Given the description of an element on the screen output the (x, y) to click on. 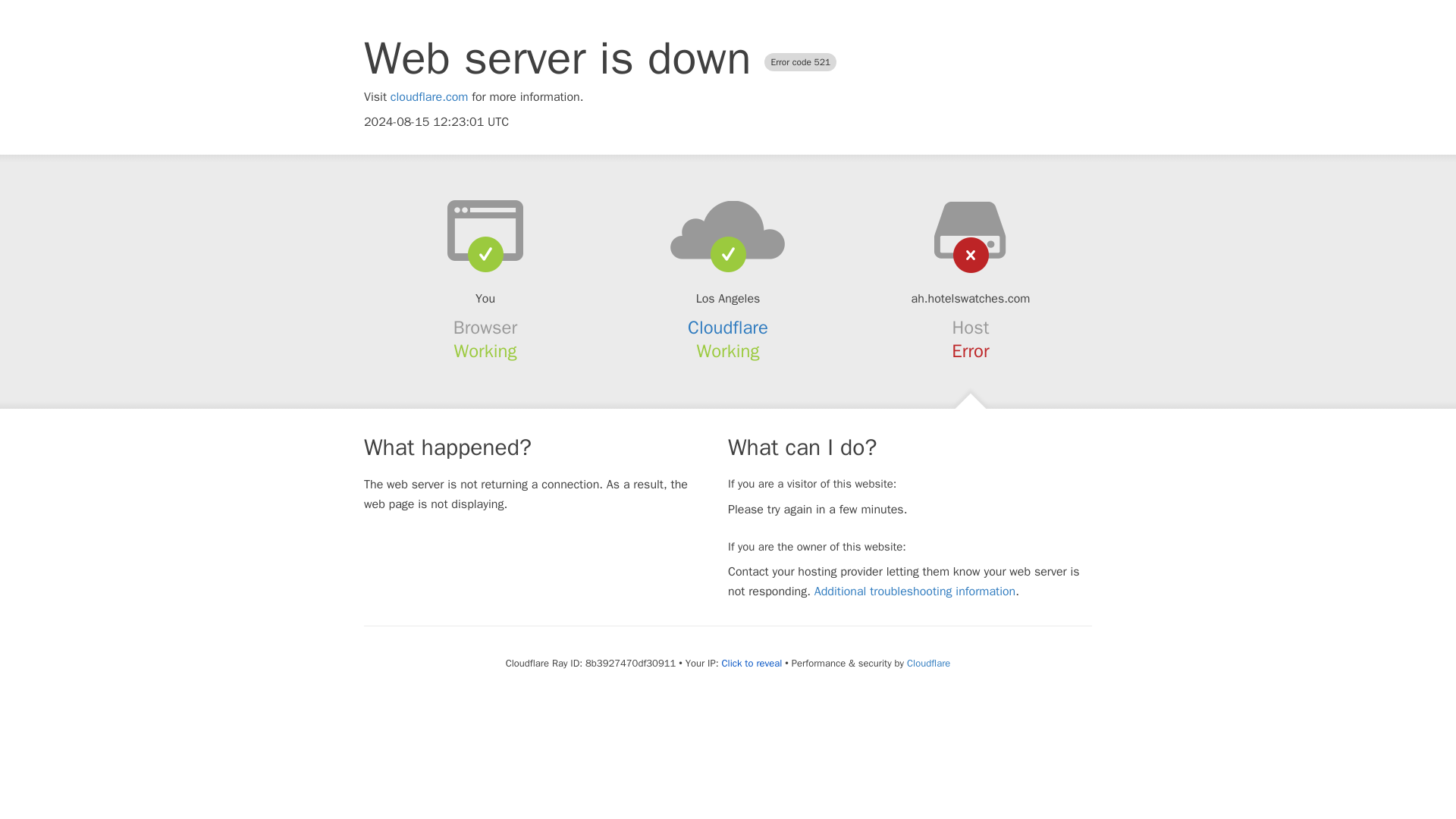
cloudflare.com (429, 96)
Cloudflare (727, 327)
Cloudflare (928, 662)
Click to reveal (750, 663)
Additional troubleshooting information (913, 590)
